Given the description of an element on the screen output the (x, y) to click on. 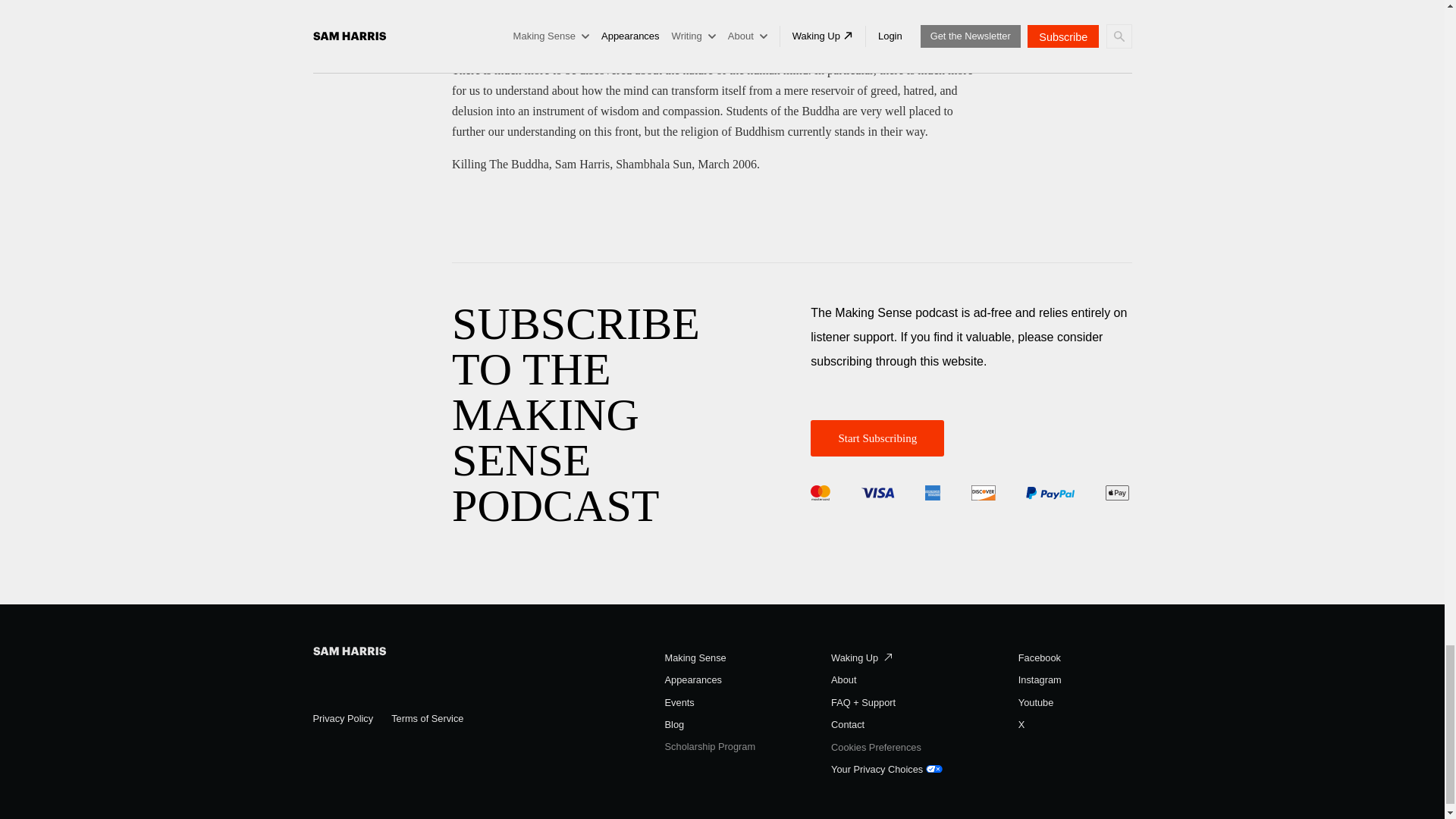
Contact (847, 725)
Terms of Service (427, 718)
Facebook (1039, 658)
Events (679, 703)
Scholarship Program (710, 747)
Youtube (1035, 703)
Privacy Policy (342, 718)
Appearances (693, 680)
Blog (674, 725)
About (843, 680)
Making Sense (695, 658)
Instagram (1039, 680)
Cookies Preferences (876, 748)
Start Subscribing (876, 438)
Waking Up (861, 658)
